Given the description of an element on the screen output the (x, y) to click on. 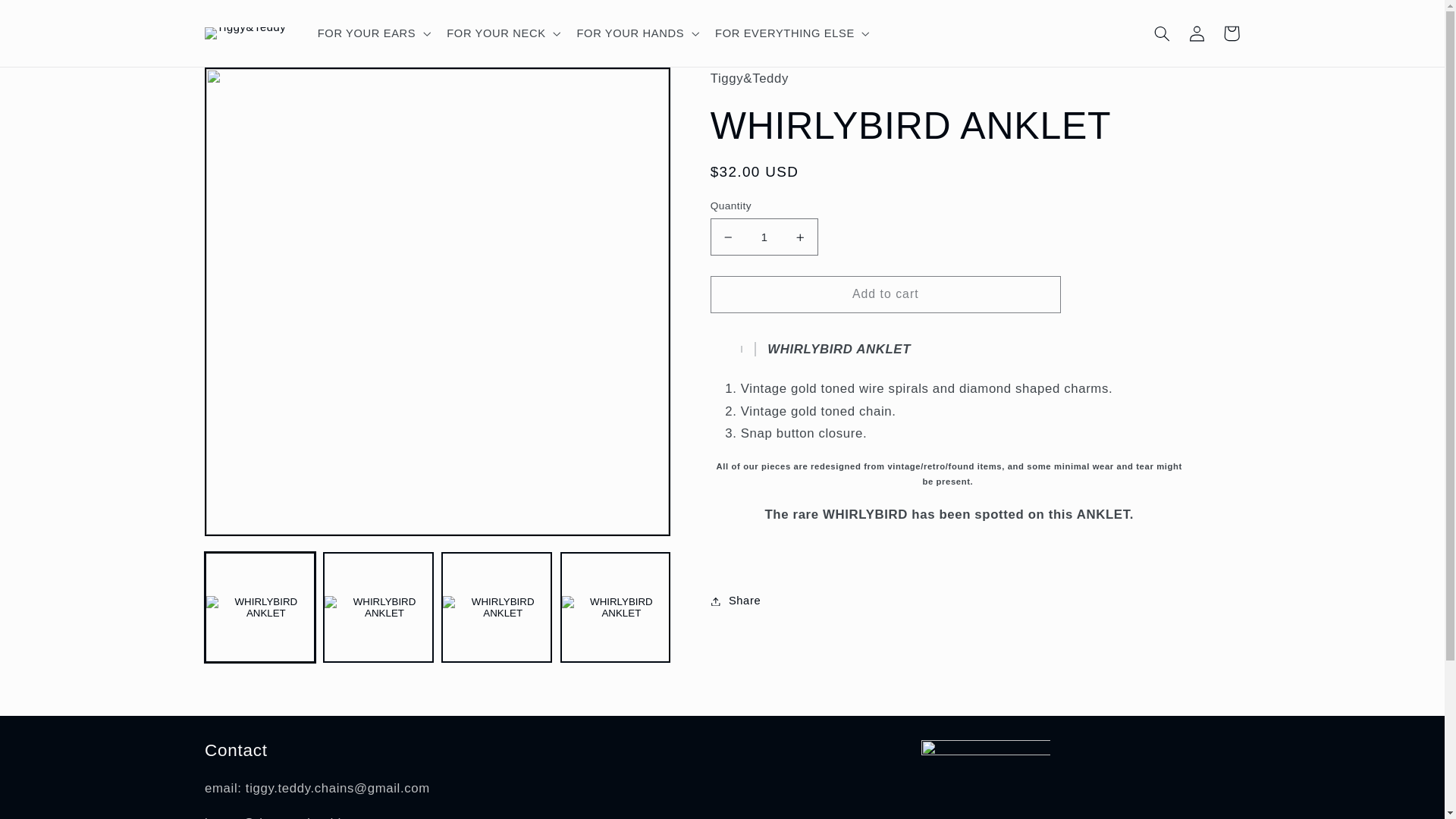
1 (764, 236)
Skip to content (48, 18)
Log in (1196, 32)
